Given the description of an element on the screen output the (x, y) to click on. 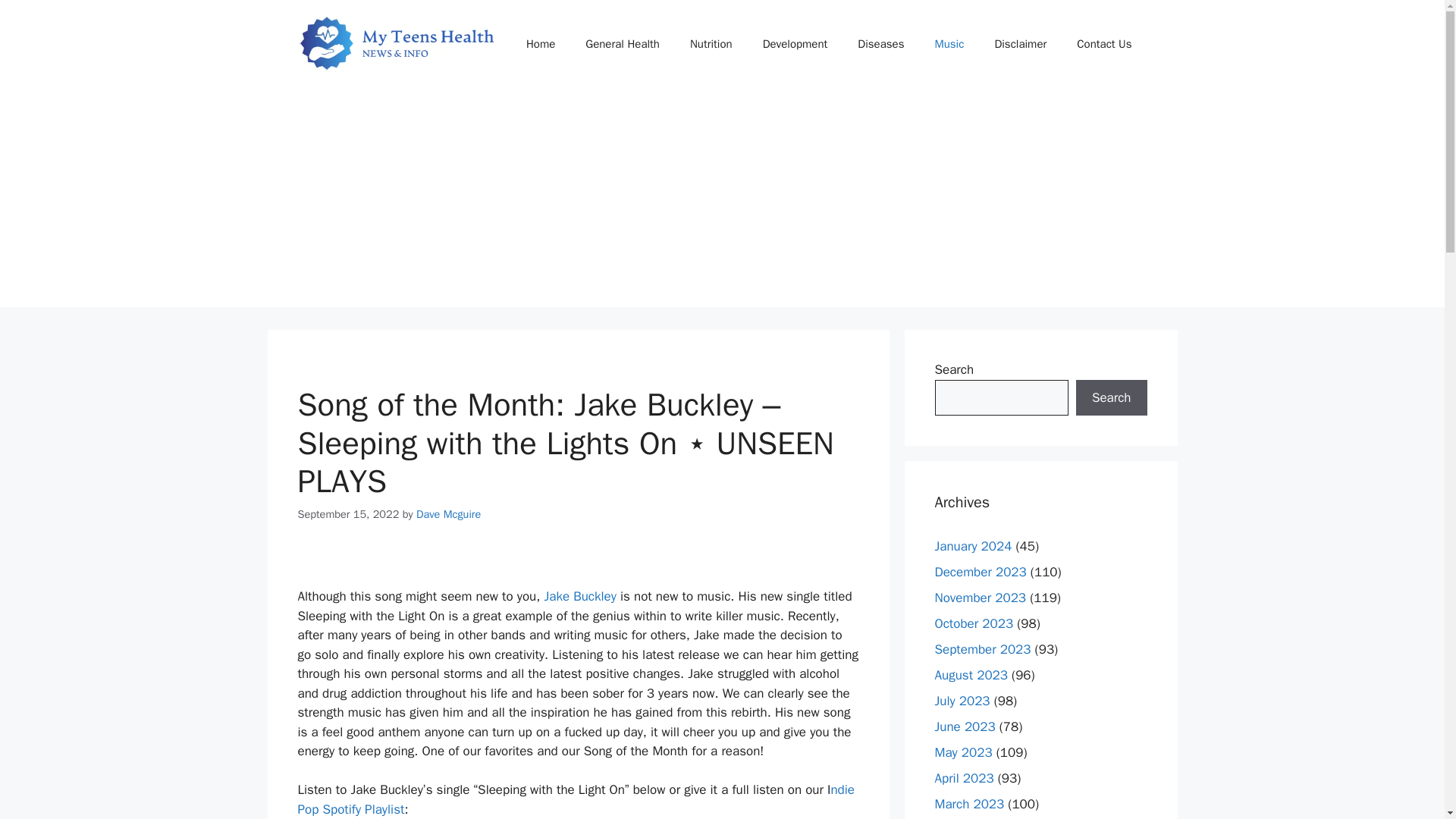
April 2023 (963, 778)
Contact Us (1104, 43)
June 2023 (964, 726)
August 2023 (970, 675)
January 2024 (972, 546)
November 2023 (980, 597)
Music (948, 43)
Nutrition (711, 43)
Disclaimer (1019, 43)
Search (1111, 398)
